Given the description of an element on the screen output the (x, y) to click on. 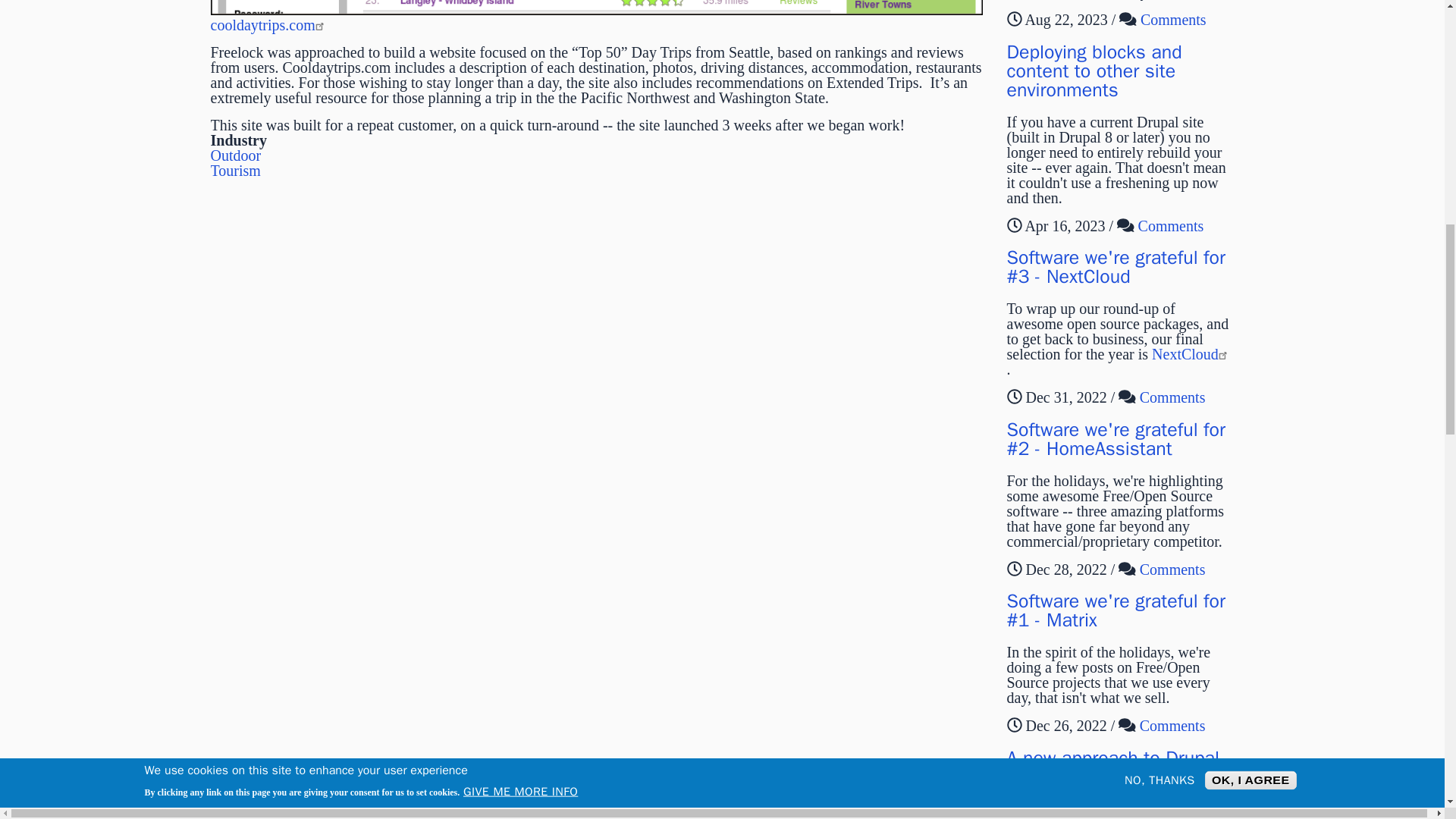
Monday, December 26, 2022 - 23:31 (1065, 725)
Tourism (235, 170)
Tuesday, August 22, 2023 - 10:58 (1065, 19)
Sunday, April 16, 2023 - 14:06 (1065, 225)
Saturday, December 31, 2022 - 14:30 (1065, 397)
Outdoor (236, 155)
cooldaytrips.com (270, 24)
Wednesday, December 28, 2022 - 23:15 (1065, 568)
